Given the description of an element on the screen output the (x, y) to click on. 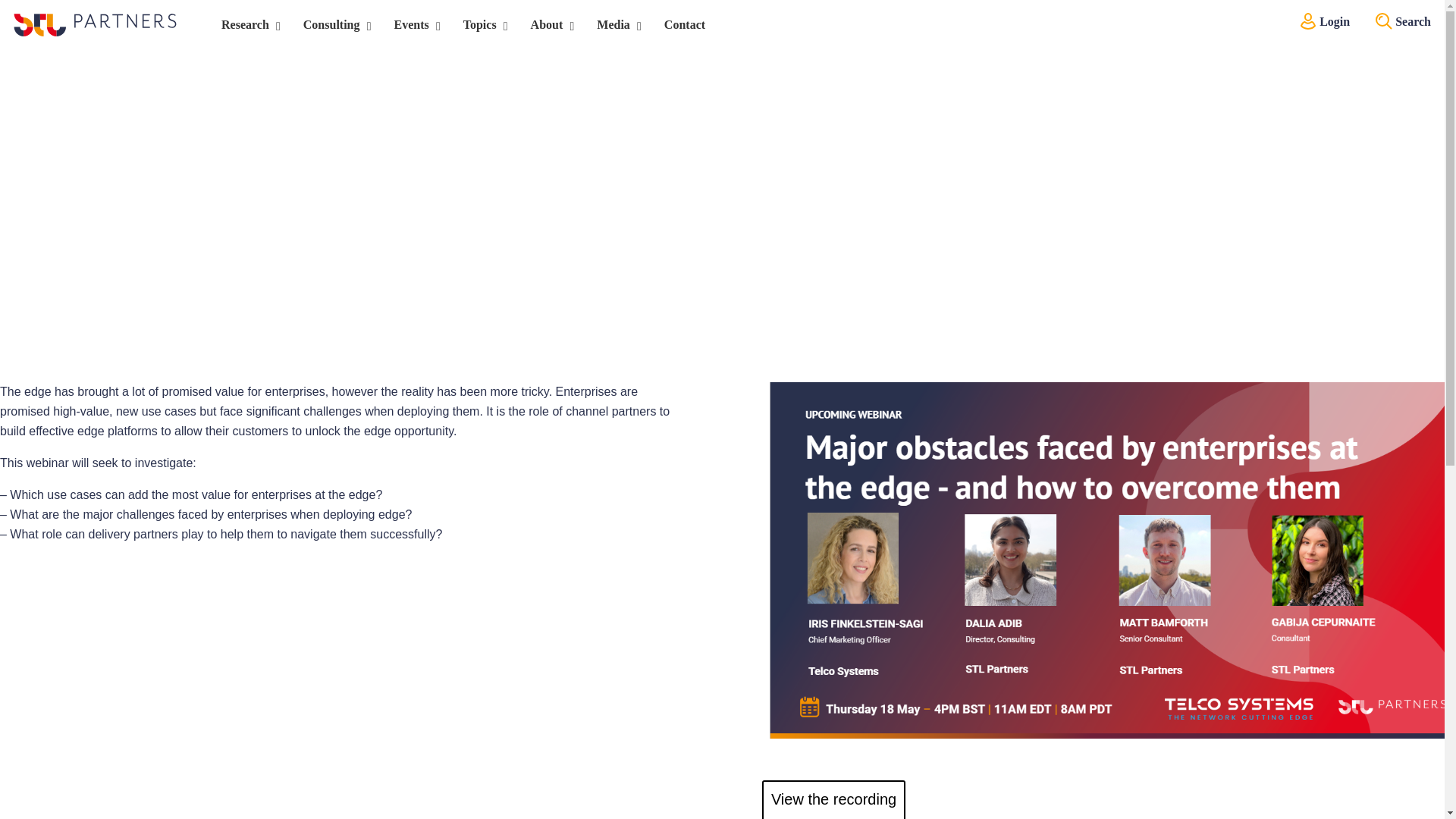
Consulting (333, 25)
STL Partners (94, 24)
Events (413, 25)
STL Partners (94, 24)
Research (247, 25)
Media (614, 25)
Topics (481, 25)
Created with Sketch. (1308, 21)
About (548, 25)
Search (1383, 21)
